Given the description of an element on the screen output the (x, y) to click on. 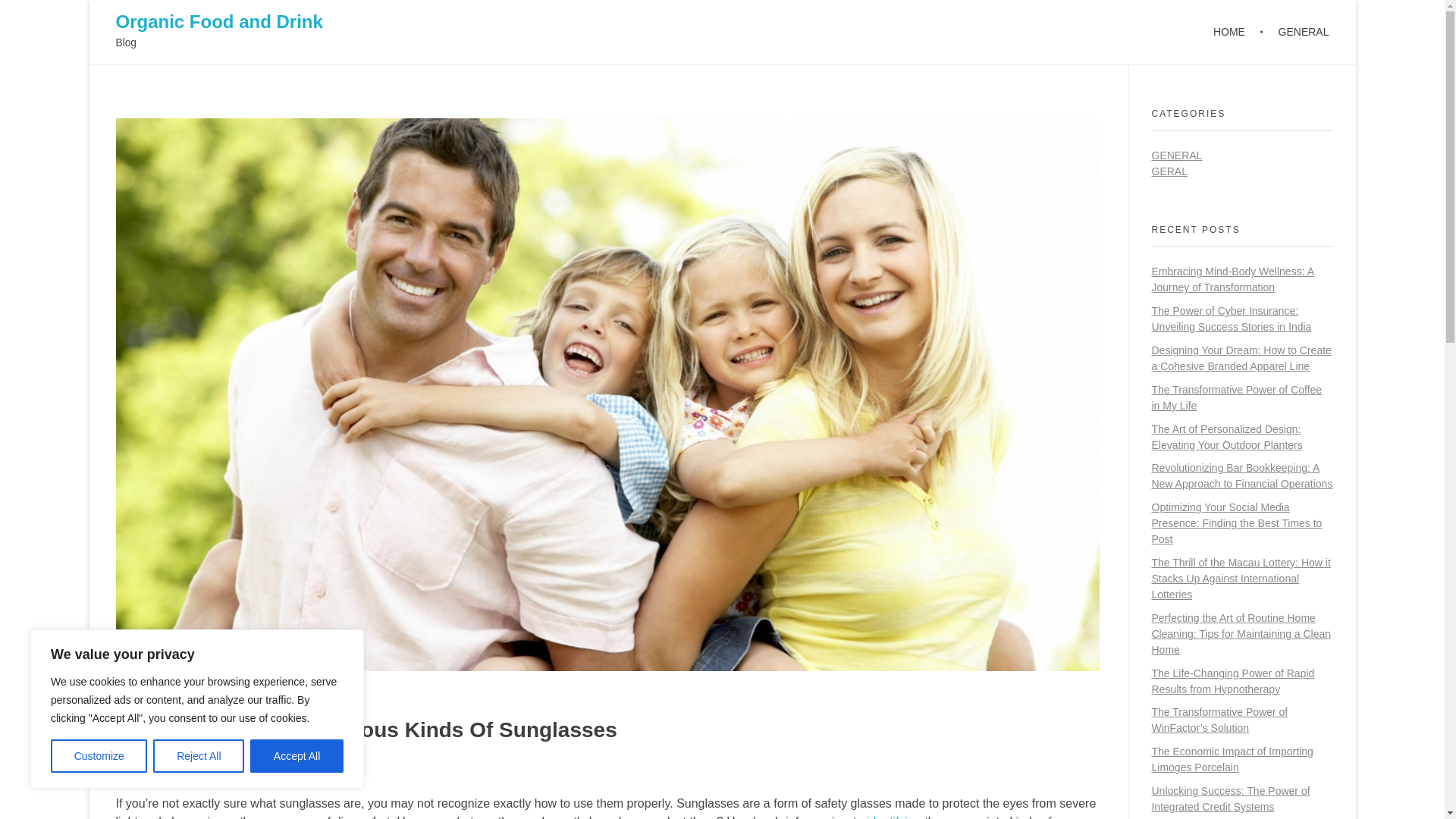
Embracing Mind-Body Wellness: A Journey of Transformation (1232, 279)
Accept All (296, 756)
GENERAL (1176, 155)
Customize (98, 756)
GERAL (1168, 171)
Organic Food and Drink (218, 21)
General (276, 770)
Reject All (198, 756)
View all posts in General (276, 770)
